Given the description of an element on the screen output the (x, y) to click on. 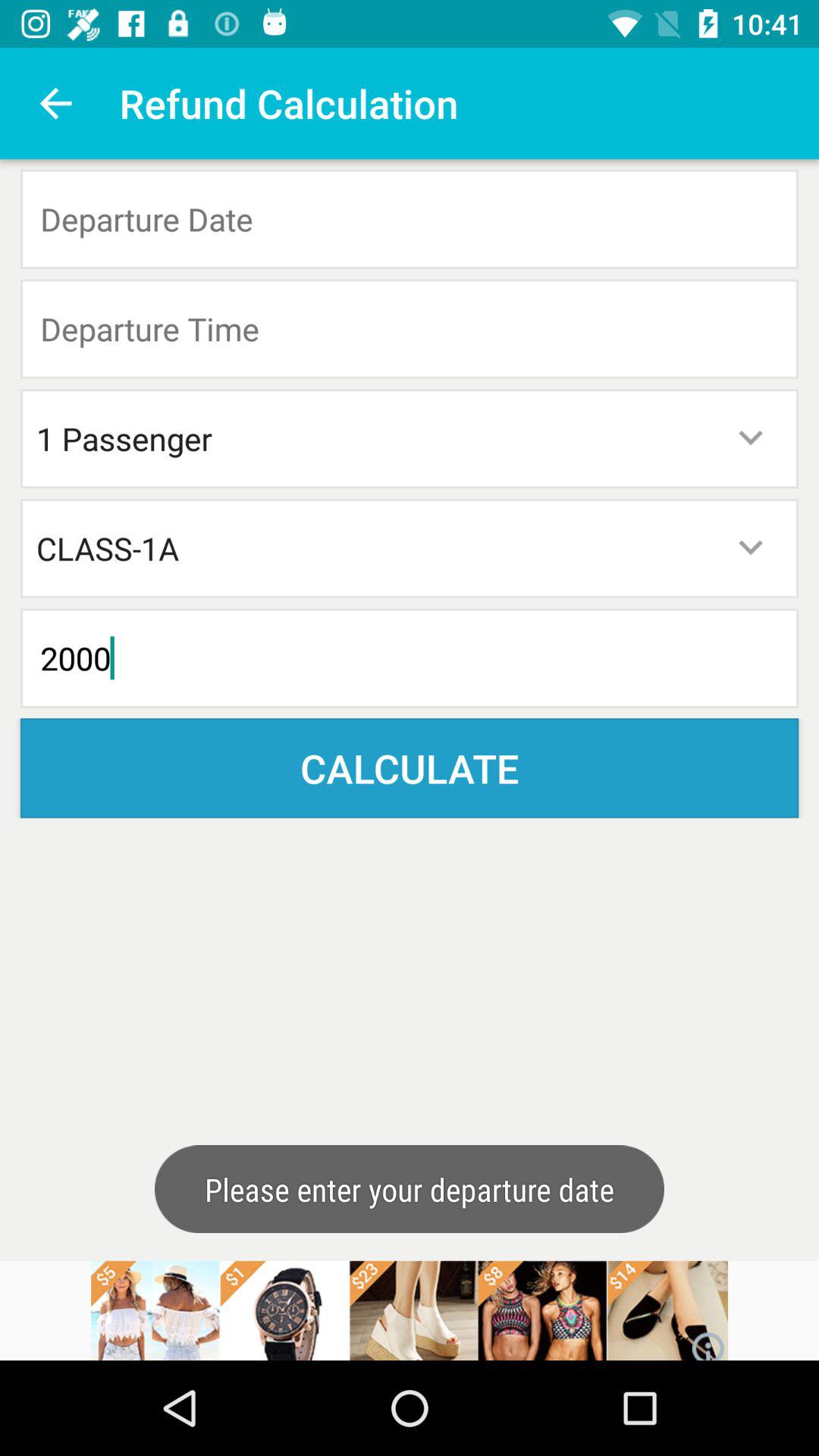
advertisent page (409, 1310)
